Given the description of an element on the screen output the (x, y) to click on. 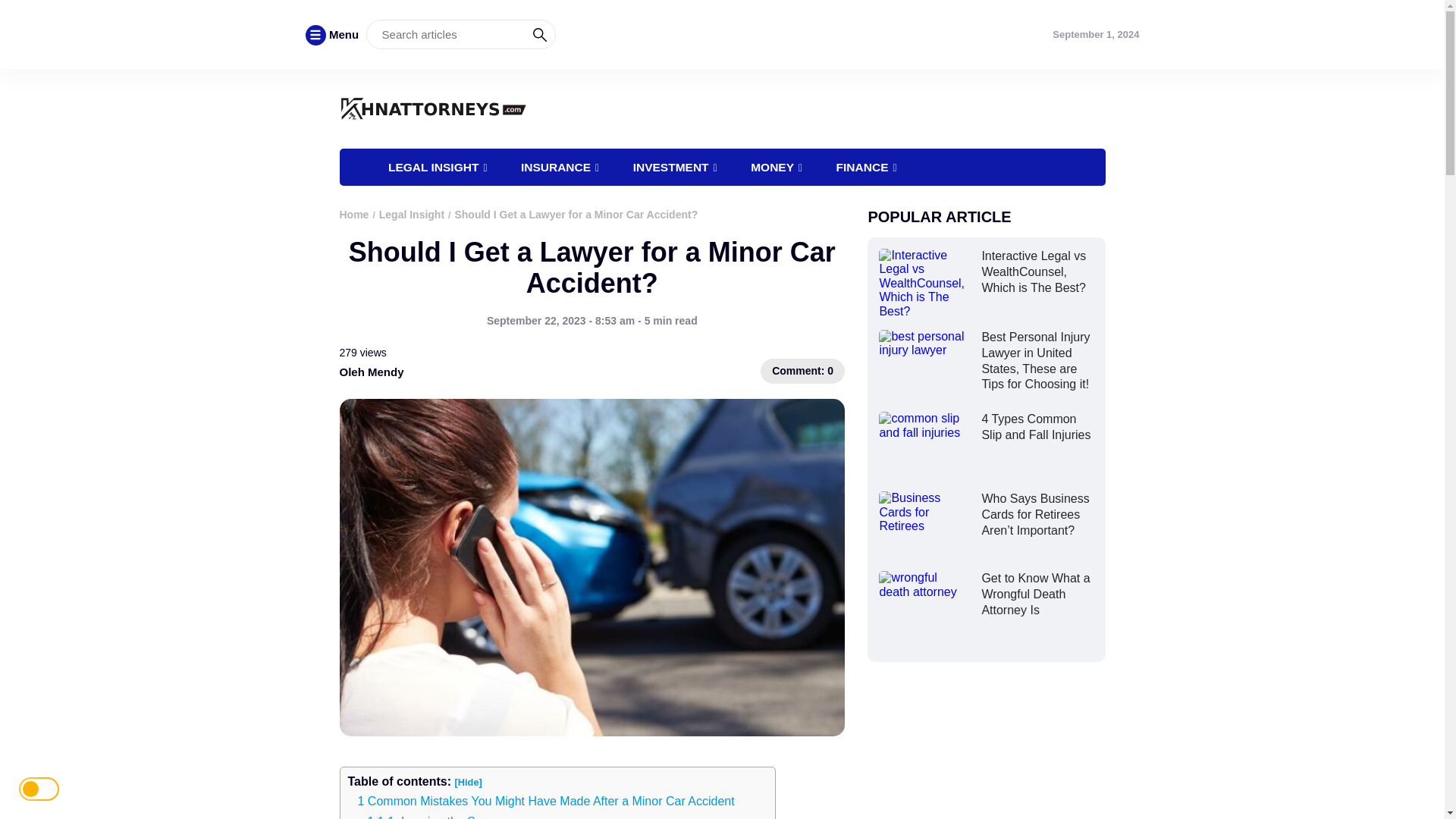
LEGAL INSIGHT (437, 167)
INSURANCE (559, 167)
MONEY (775, 167)
INVESTMENT (674, 167)
